Given the description of an element on the screen output the (x, y) to click on. 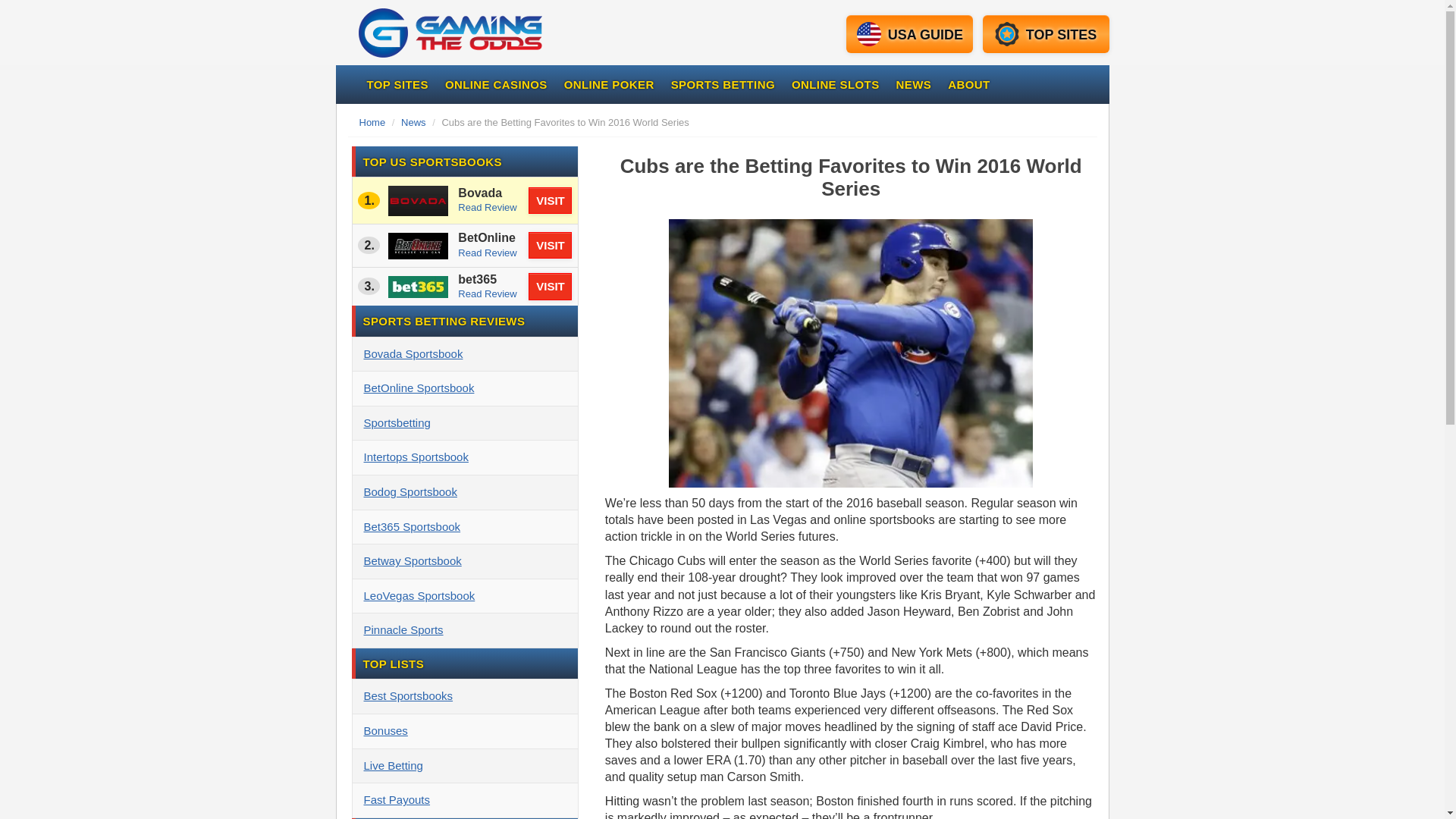
Live Betting (464, 766)
Bet365 Sportsbook (464, 526)
ONLINE SLOTS (835, 84)
ONLINE CASINOS (496, 84)
Home (514, 32)
ONLINE CASINOS (496, 84)
Best Sportsbooks (464, 696)
Read Bovada review (487, 206)
ONLINE SLOTS (835, 84)
Intertops Sportsbook (464, 457)
VISIT (550, 285)
NEWS (914, 84)
Fast Payouts (464, 800)
SPORTS BETTING (722, 84)
VISIT (550, 244)
